Given the description of an element on the screen output the (x, y) to click on. 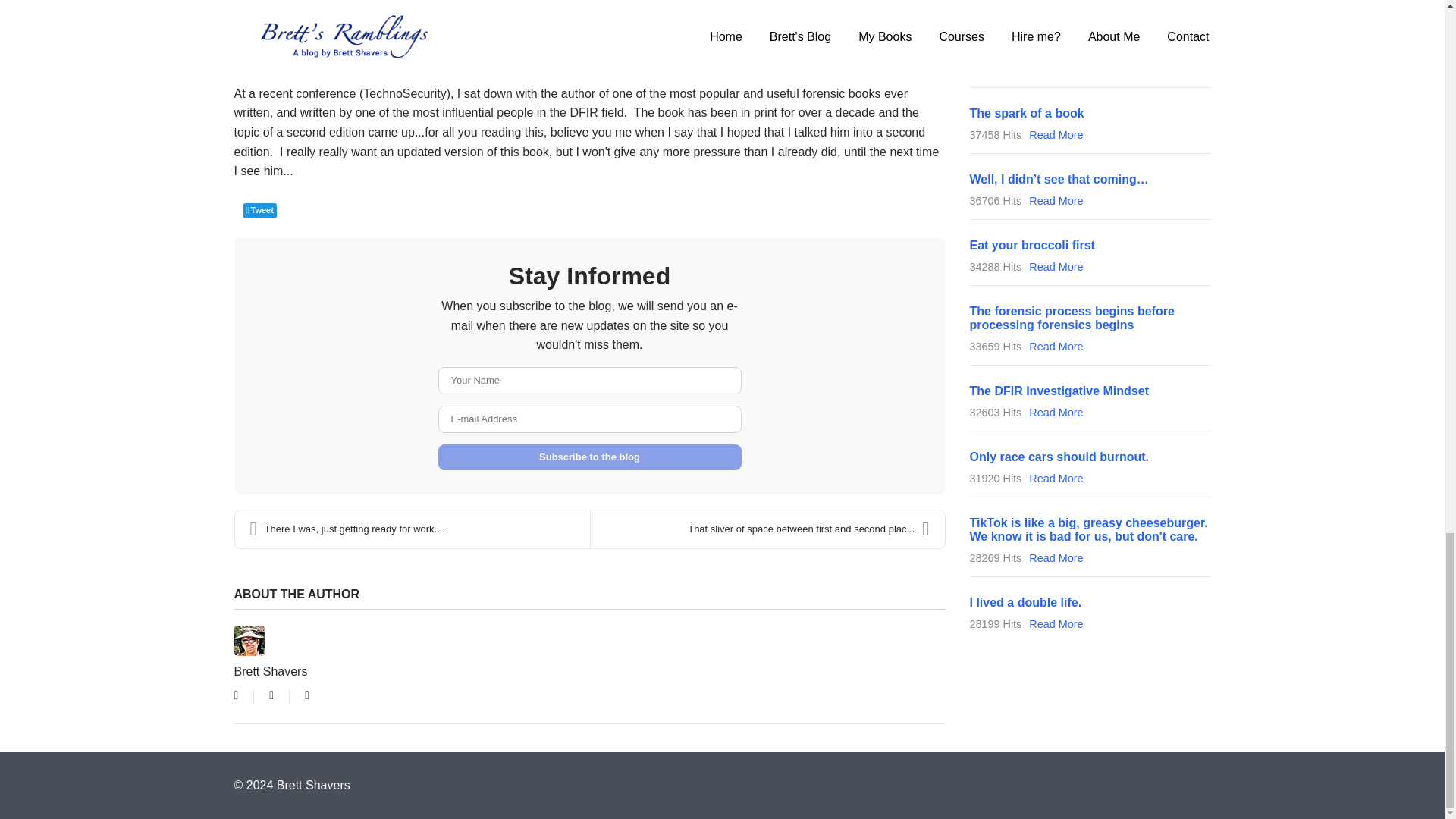
Should you improve your DFIR skills on your personal time? (1083, 40)
Only race cars should burnout. (1058, 456)
The spark of a book (1026, 113)
The DFIR Investigative Mindset (1058, 390)
Subscribe to the blog (589, 457)
There I was, just getting ready for work.... (411, 528)
Brett Shavers (269, 671)
I lived a double life. (1025, 602)
